Given the description of an element on the screen output the (x, y) to click on. 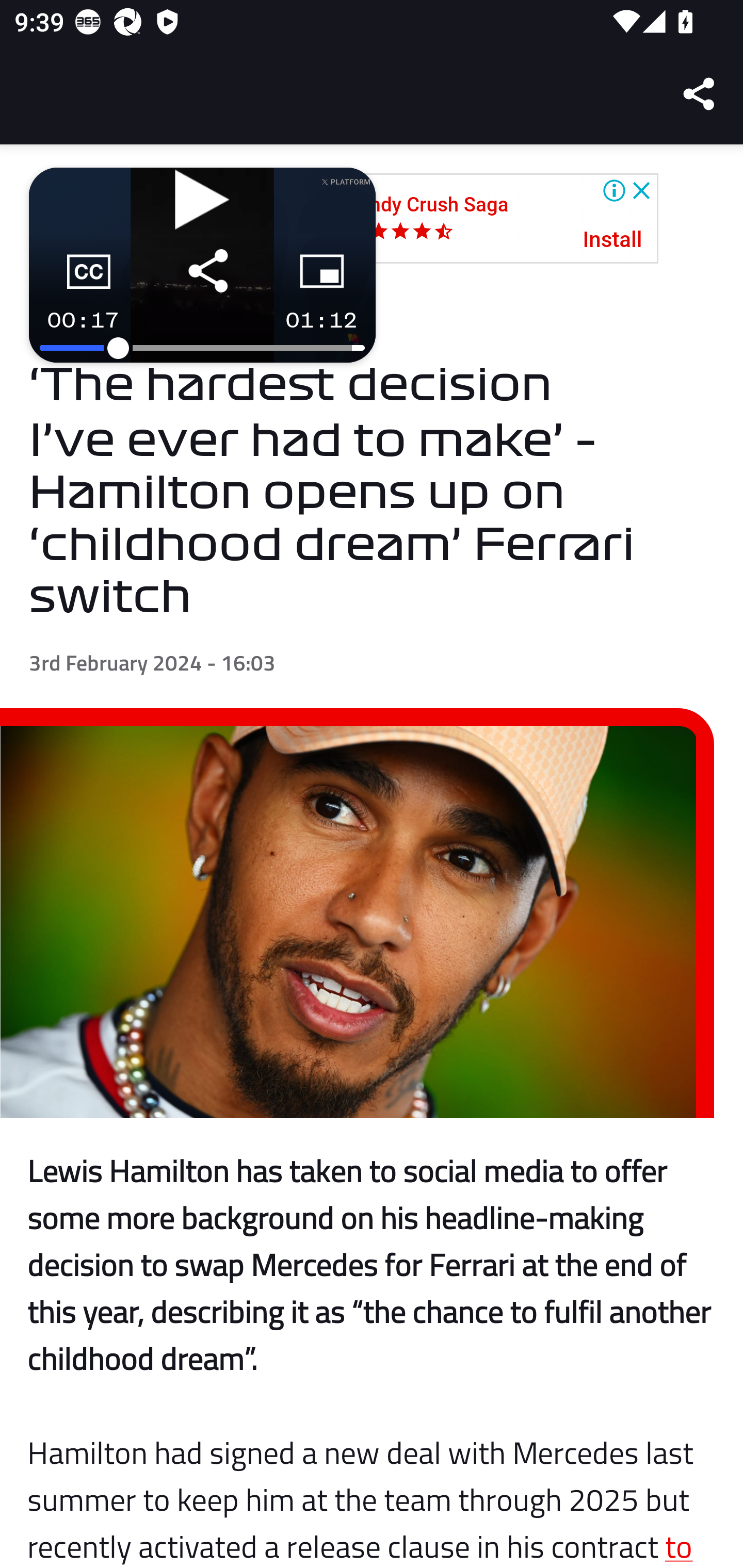
Share (699, 93)
Install (613, 240)
